Given the description of an element on the screen output the (x, y) to click on. 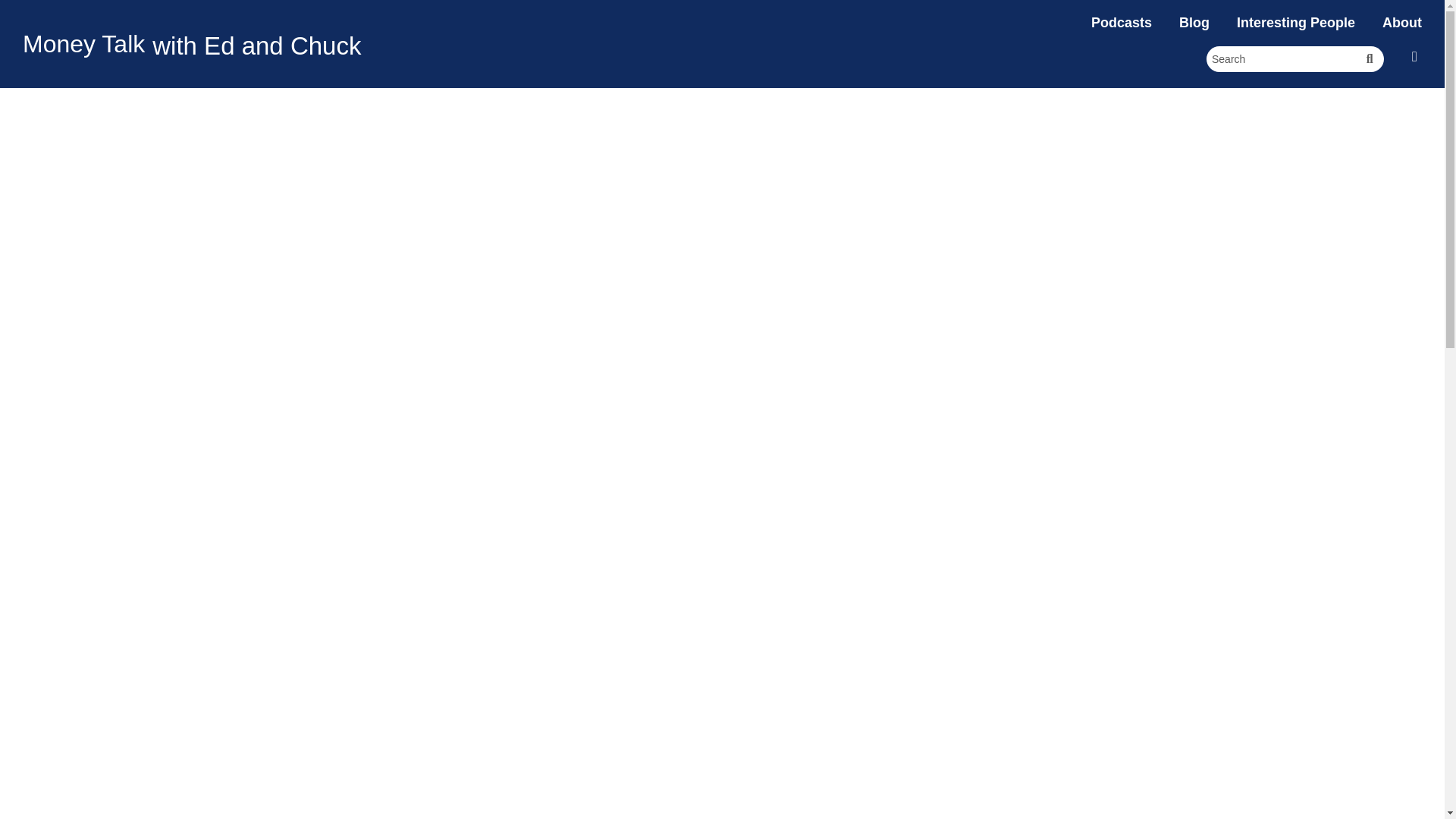
Podcasts (1120, 22)
Interesting People (1295, 22)
Search (1281, 58)
Blog (1194, 22)
About (1401, 22)
with Ed and Chuck (256, 45)
Money Talk (83, 43)
